Given the description of an element on the screen output the (x, y) to click on. 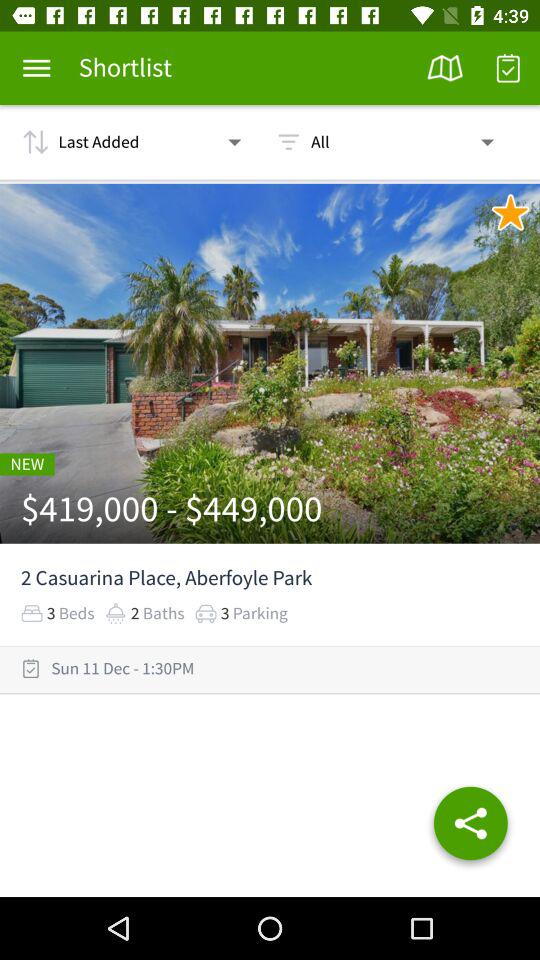
share the article (470, 827)
